Given the description of an element on the screen output the (x, y) to click on. 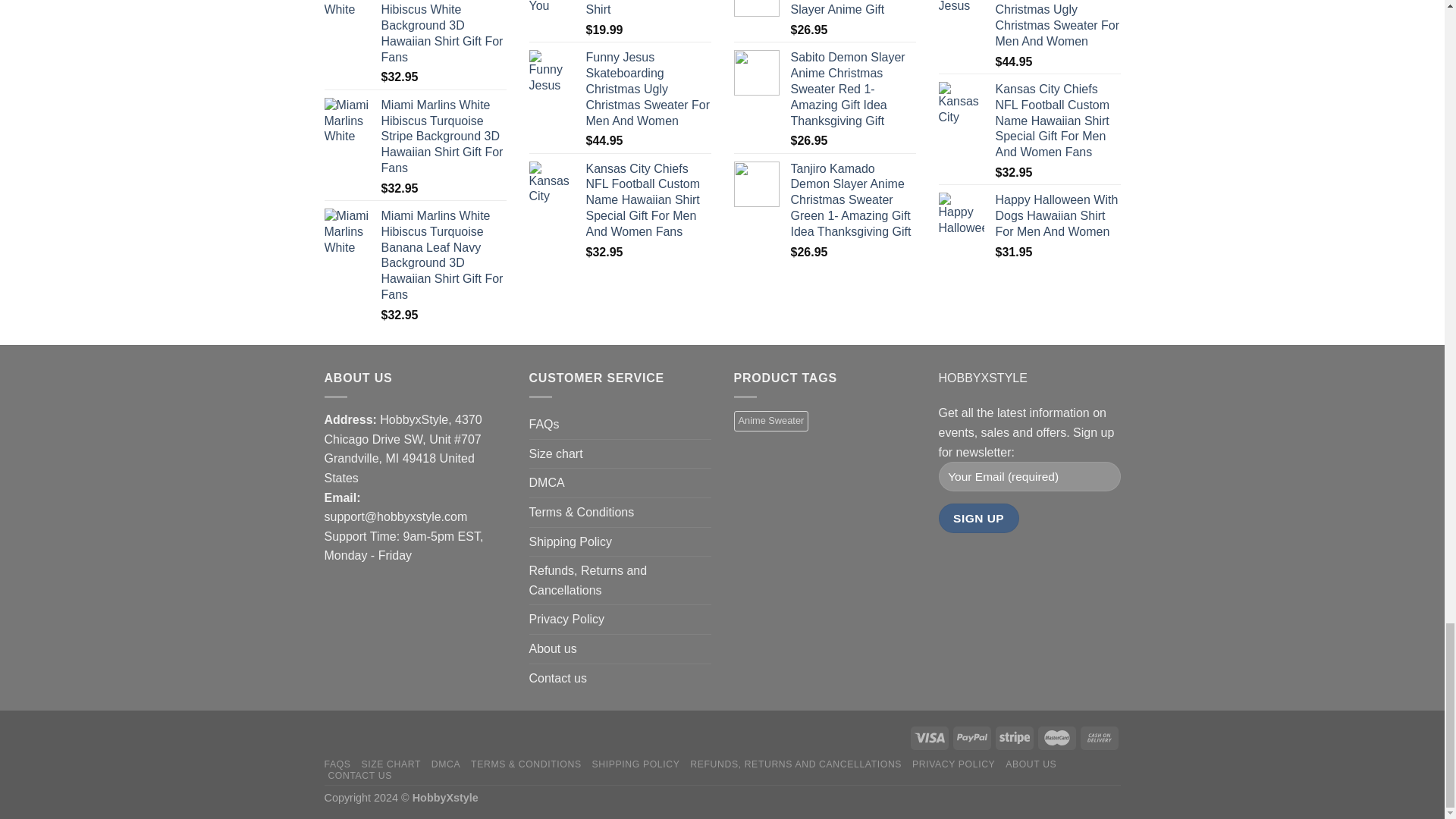
Sign Up (979, 518)
